Given the description of an element on the screen output the (x, y) to click on. 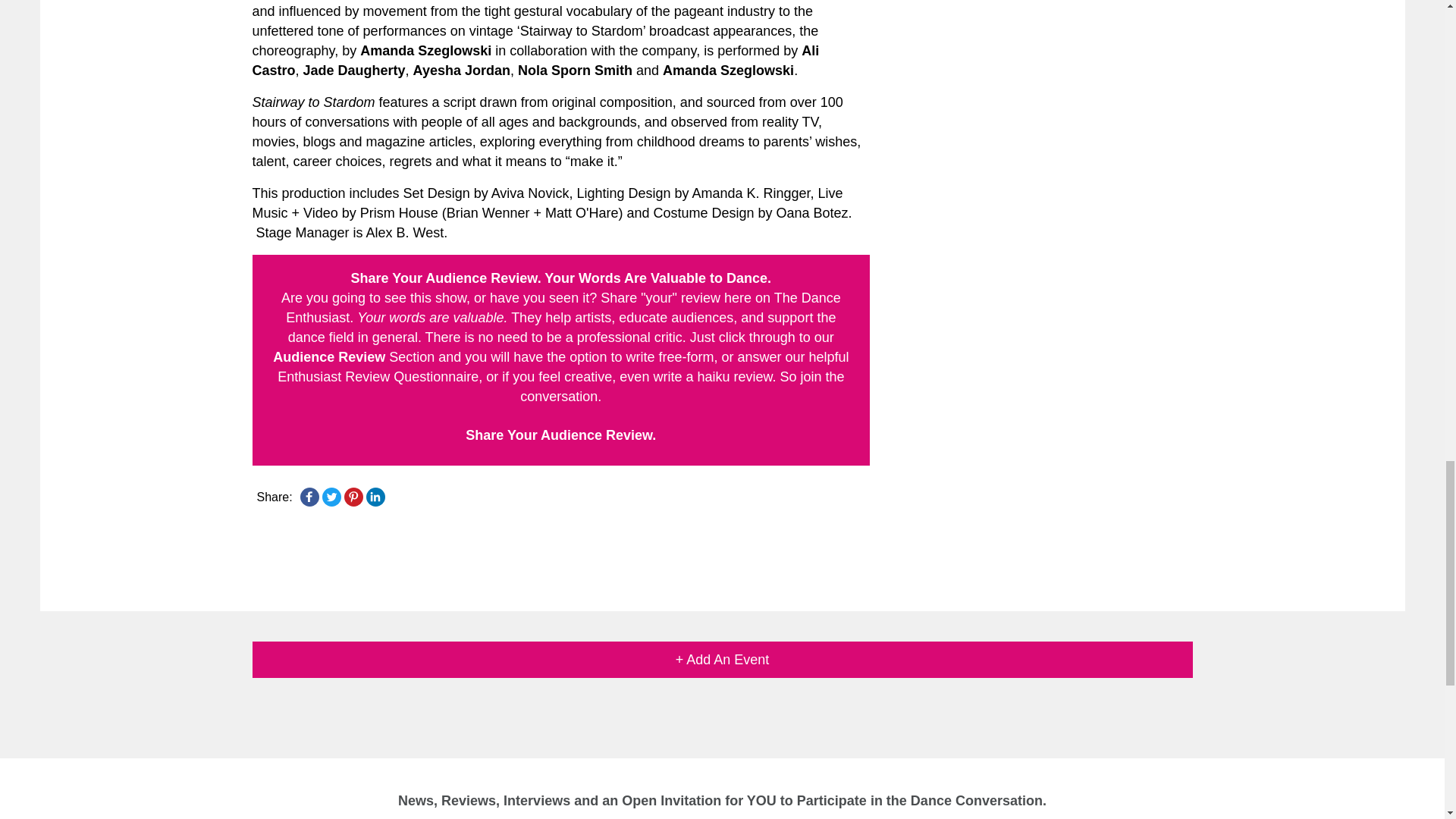
LinkedIn (375, 496)
Pinterest (353, 496)
Facebook (309, 496)
Twitter (331, 496)
